Given the description of an element on the screen output the (x, y) to click on. 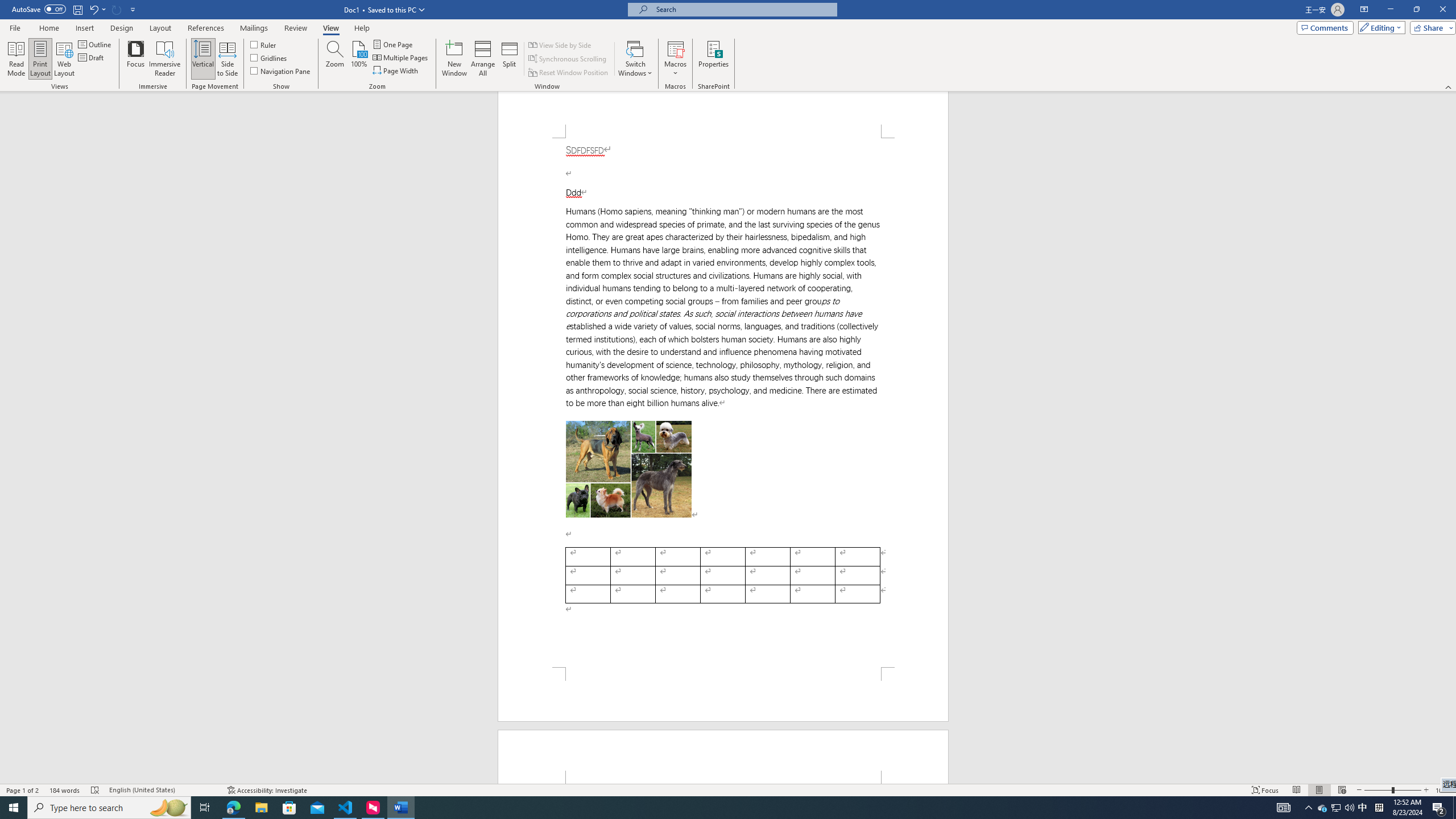
Side to Side (226, 58)
View Macros (675, 48)
Split (509, 58)
Macros (675, 58)
Can't Repeat (117, 9)
Synchronous Scrolling (568, 58)
Ruler (263, 44)
